Given the description of an element on the screen output the (x, y) to click on. 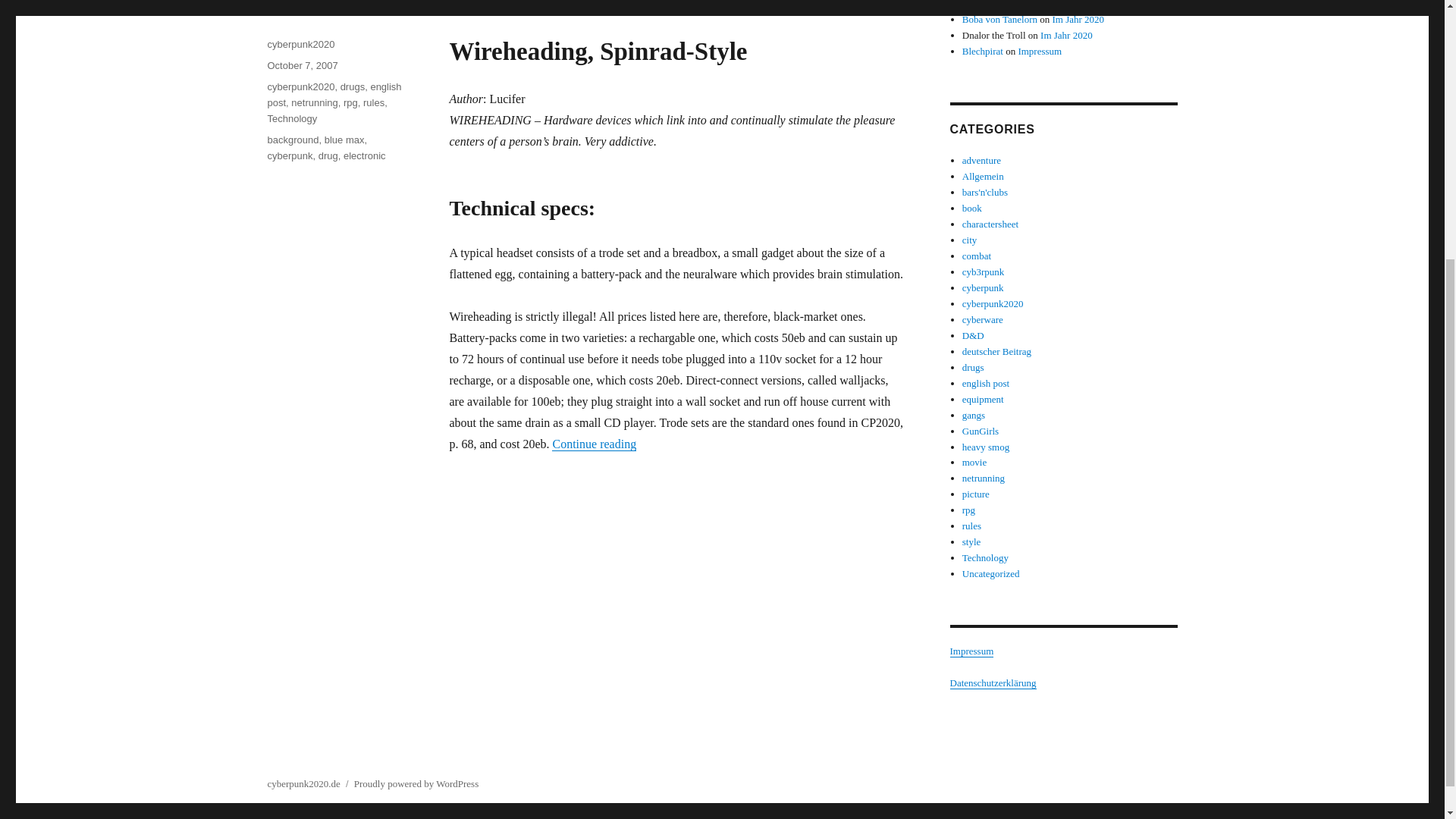
cyberpunk (983, 287)
Blechpirat (982, 50)
background (292, 139)
drugs (352, 86)
combat (976, 255)
October 7, 2007 (301, 65)
english post (333, 94)
book (971, 207)
cyberpunk2020 (300, 43)
Boba von Tanelorn (999, 19)
